Given the description of an element on the screen output the (x, y) to click on. 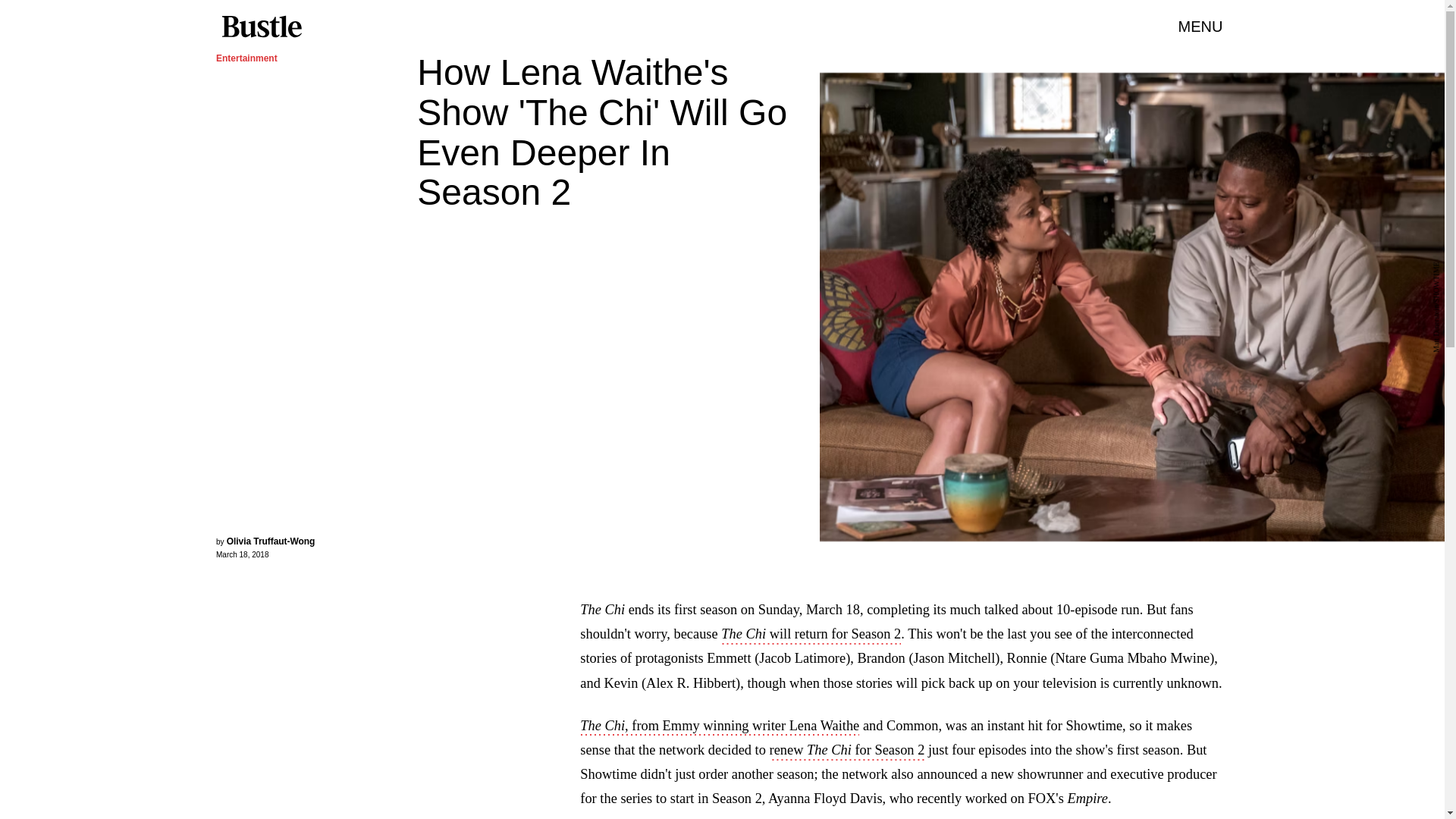
The Chi, from Emmy winning writer Lena Waithe (719, 727)
renew The Chi for Season 2 (847, 751)
The Chi will return for Season 2 (810, 635)
Bustle (261, 26)
Olivia Truffaut-Wong (271, 541)
